Given the description of an element on the screen output the (x, y) to click on. 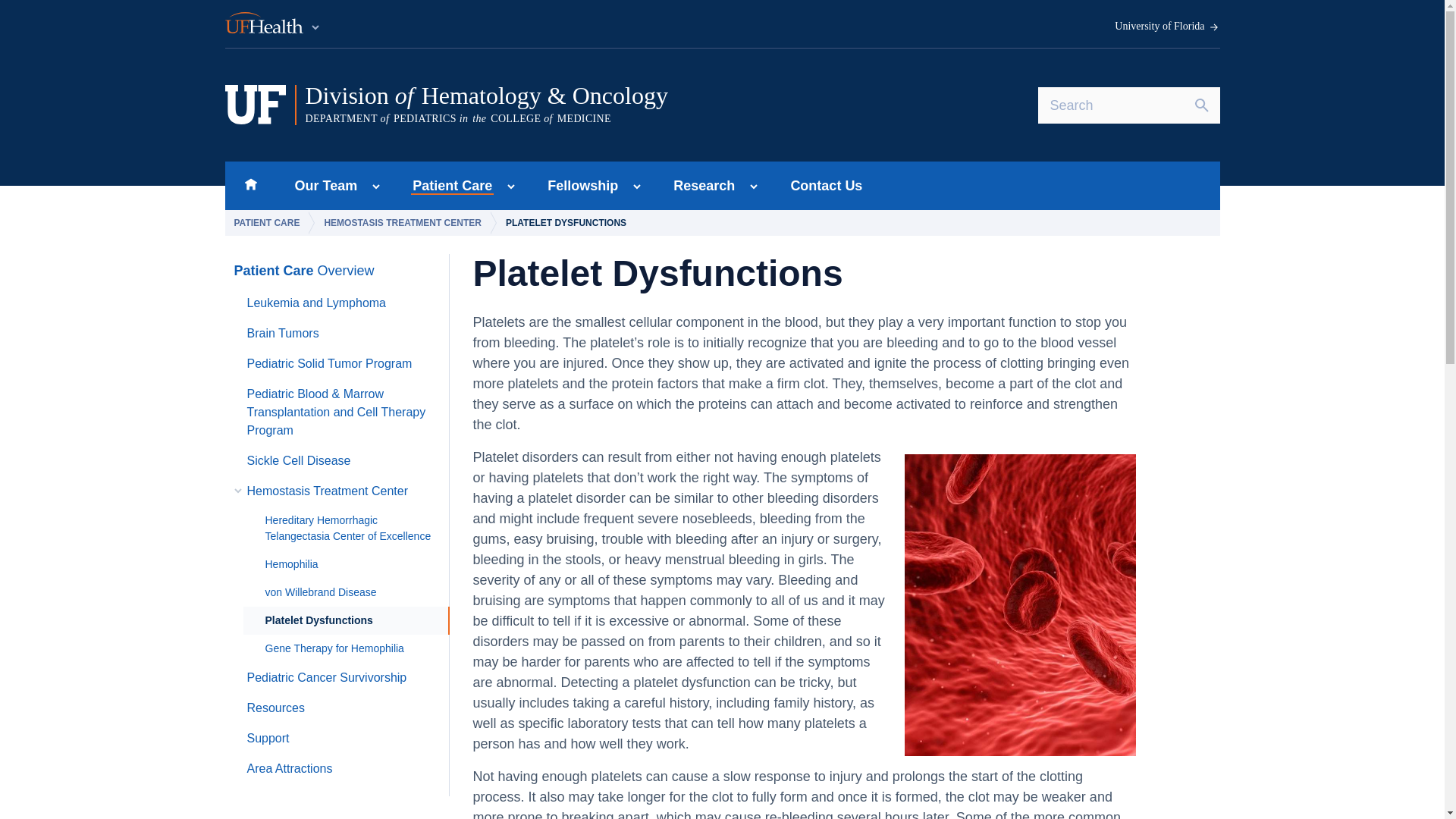
Skip to main content (447, 185)
University of Florida (321, 185)
Home (1167, 26)
UF Health (250, 185)
